Given the description of an element on the screen output the (x, y) to click on. 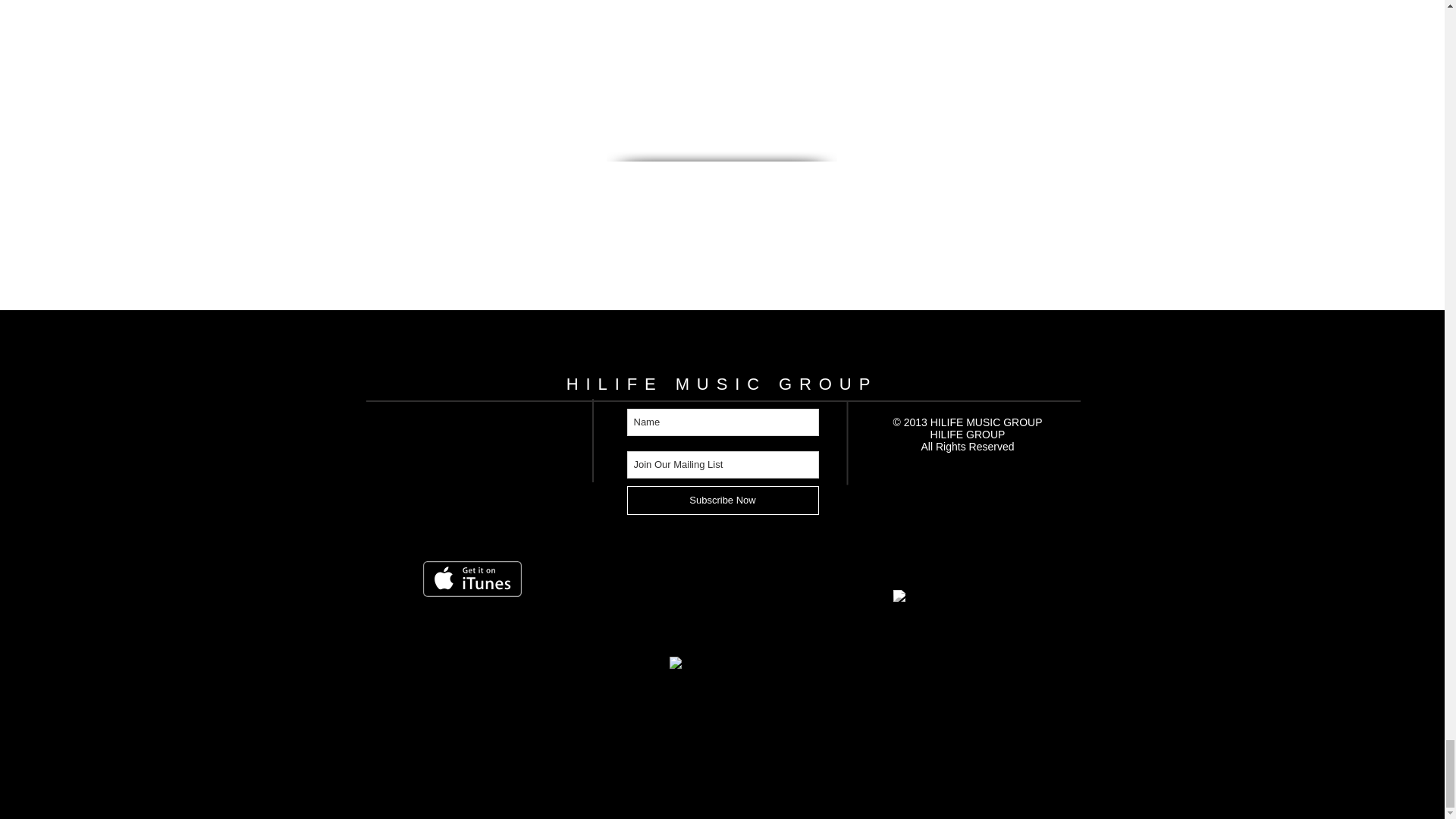
HILIFE MUSIC GROUP (721, 383)
Subscribe Now (722, 500)
Twitter Follow (451, 638)
Get it on iTunes (472, 579)
